Given the description of an element on the screen output the (x, y) to click on. 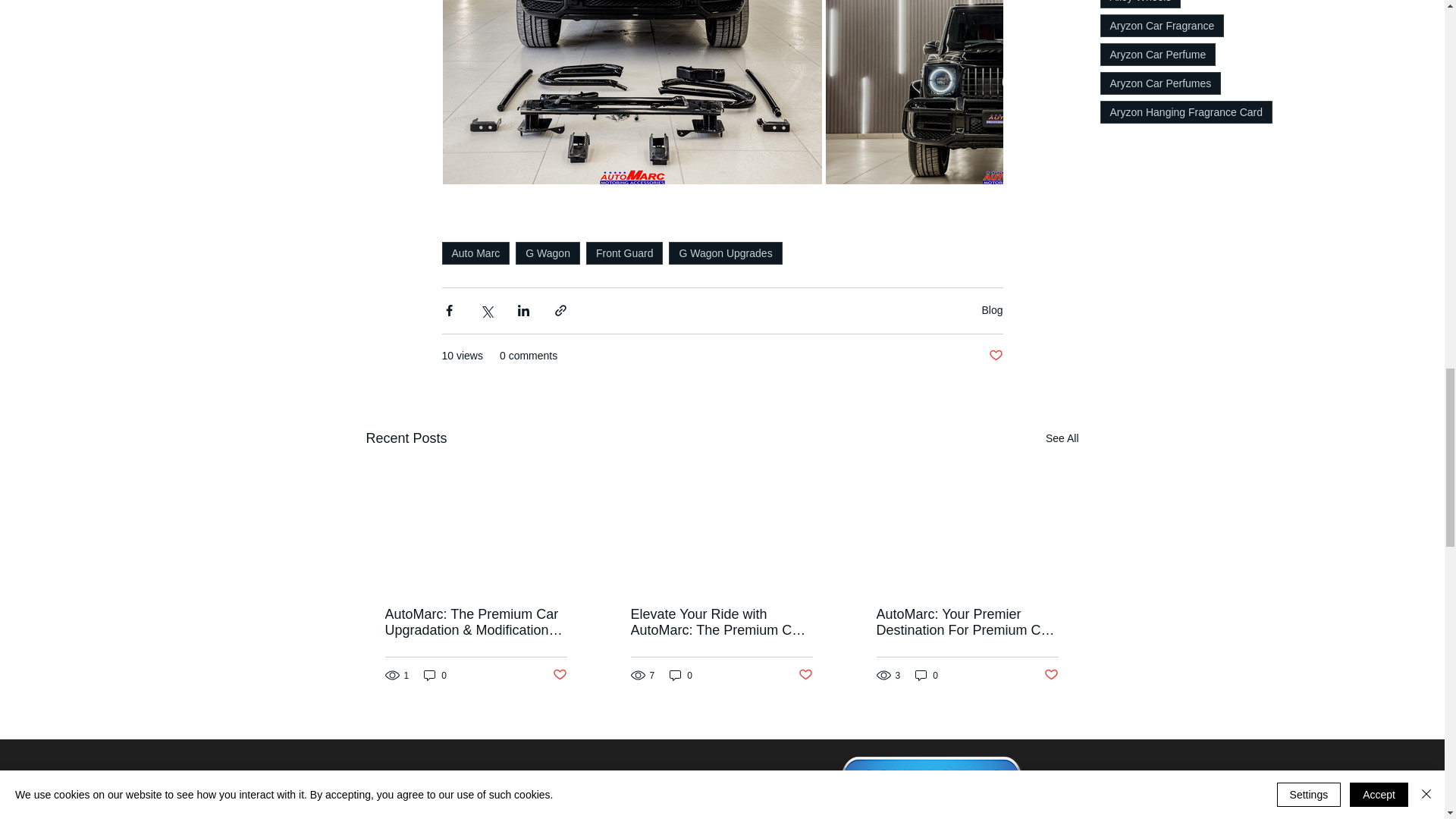
G Wagon Upgrades (724, 251)
Blog (992, 309)
Auto Marc Lead Form (558, 780)
Post not marked as liked (995, 355)
See All (1061, 438)
G Wagon (547, 251)
Front Guard (624, 251)
Auto Marc (475, 251)
